Given the description of an element on the screen output the (x, y) to click on. 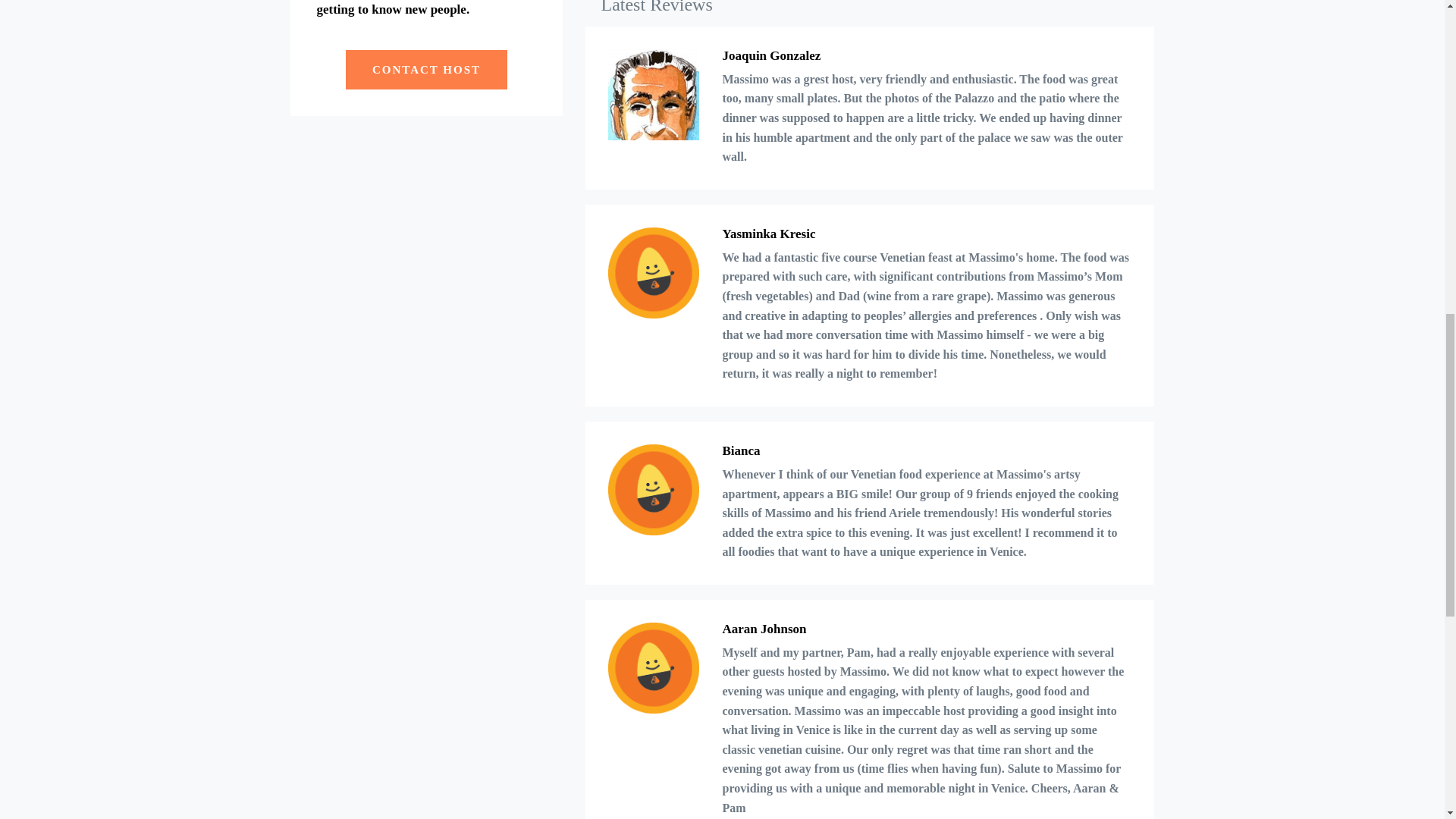
CONTACT HOST (426, 69)
